Given the description of an element on the screen output the (x, y) to click on. 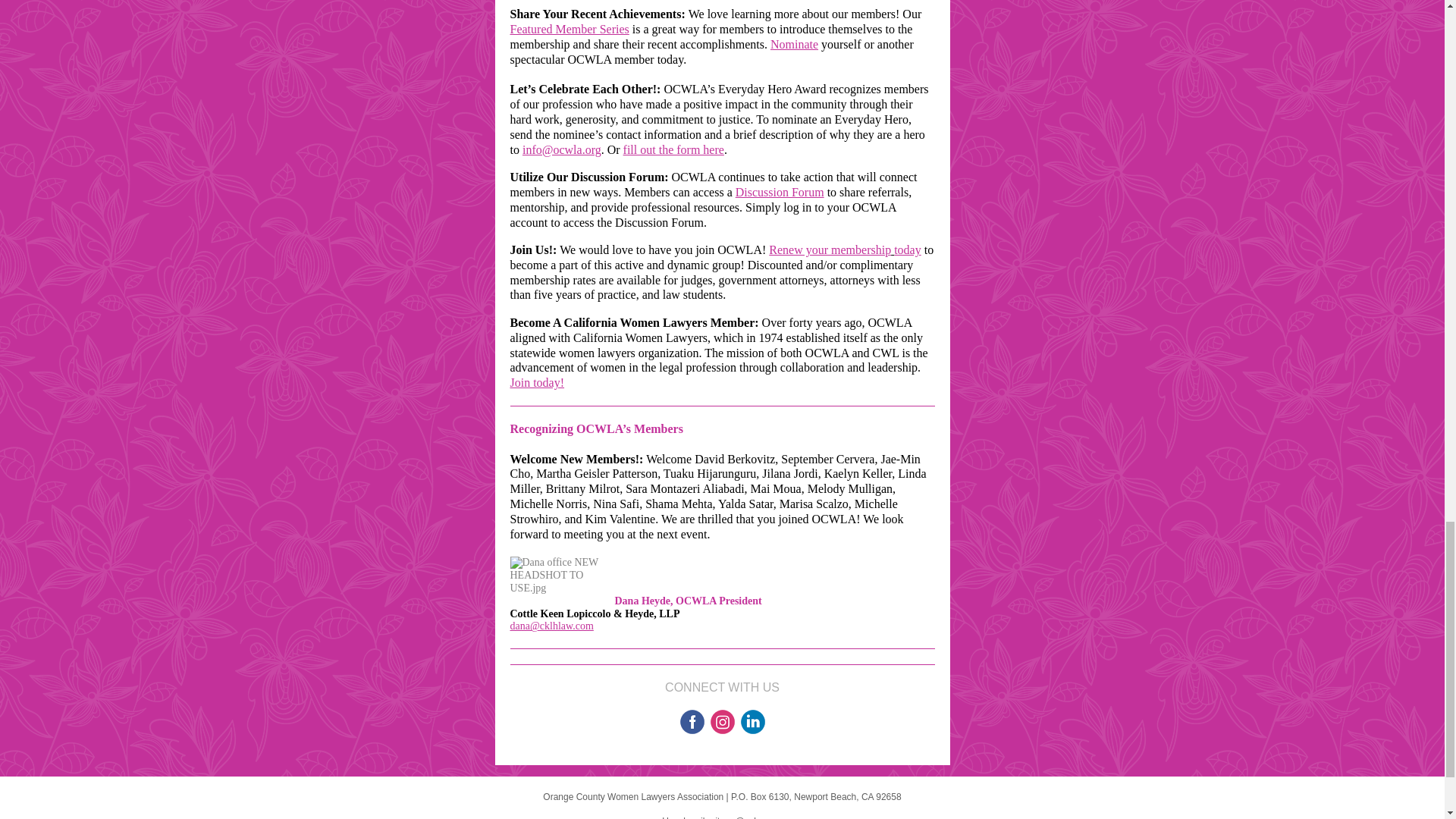
Nominate (794, 43)
Join today! (536, 382)
Renew your membership (829, 249)
fill out the form here (673, 149)
Featured Member Series (568, 29)
Discussion Forum (779, 192)
today (907, 249)
